Given the description of an element on the screen output the (x, y) to click on. 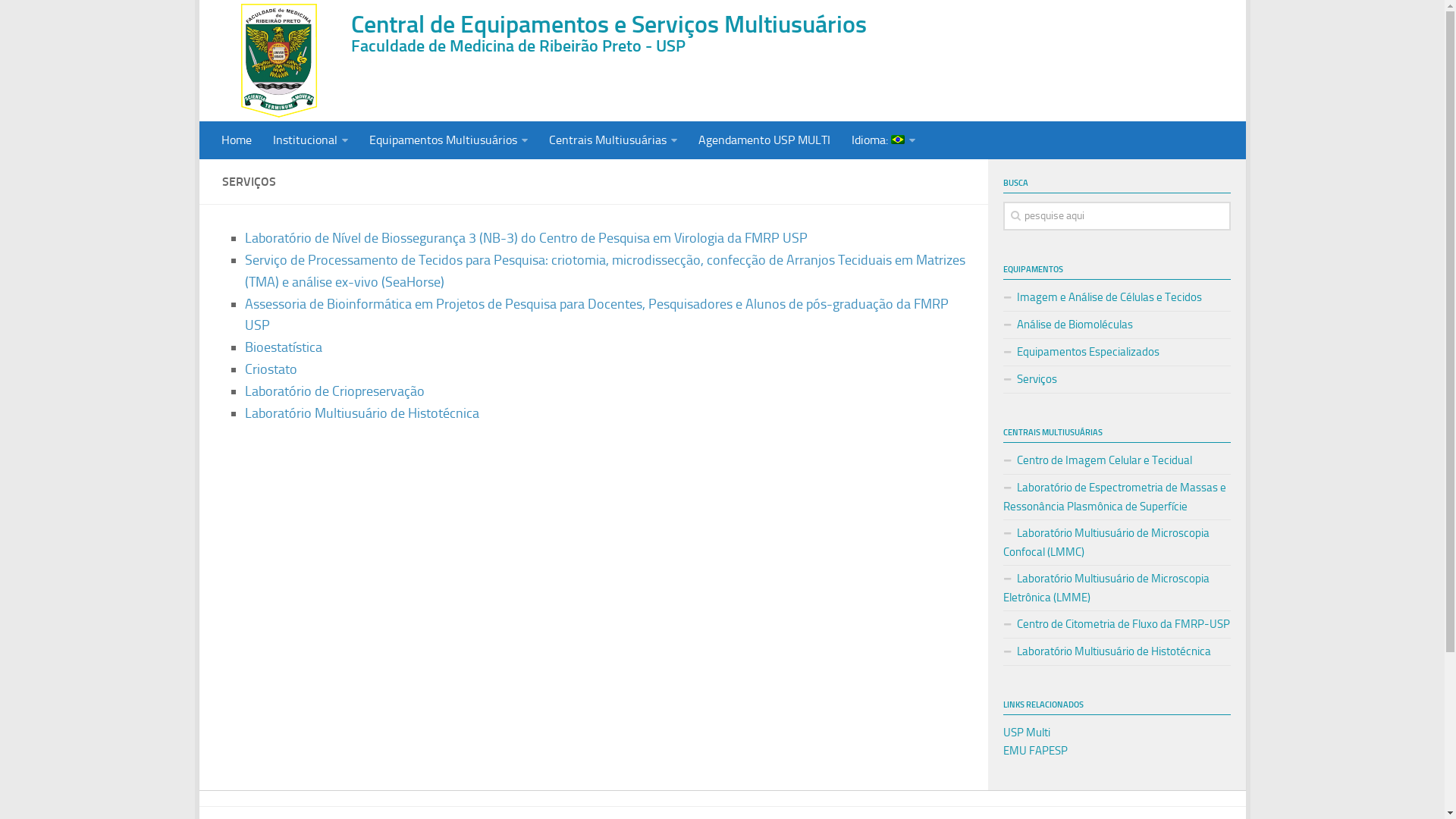
EMU FAPESP Element type: text (1034, 750)
USP Multi Element type: text (1025, 732)
Home Element type: text (236, 139)
Centro de Citometria de Fluxo da FMRP-USP Element type: text (1116, 624)
Institucional Element type: text (310, 140)
Criostato Element type: text (270, 368)
Equipamentos Especializados Element type: text (1116, 352)
Idioma:  Element type: text (882, 140)
Centro de Imagem Celular e Tecidual Element type: text (1116, 460)
Agendamento USP MULTI Element type: text (763, 139)
